Given the description of an element on the screen output the (x, y) to click on. 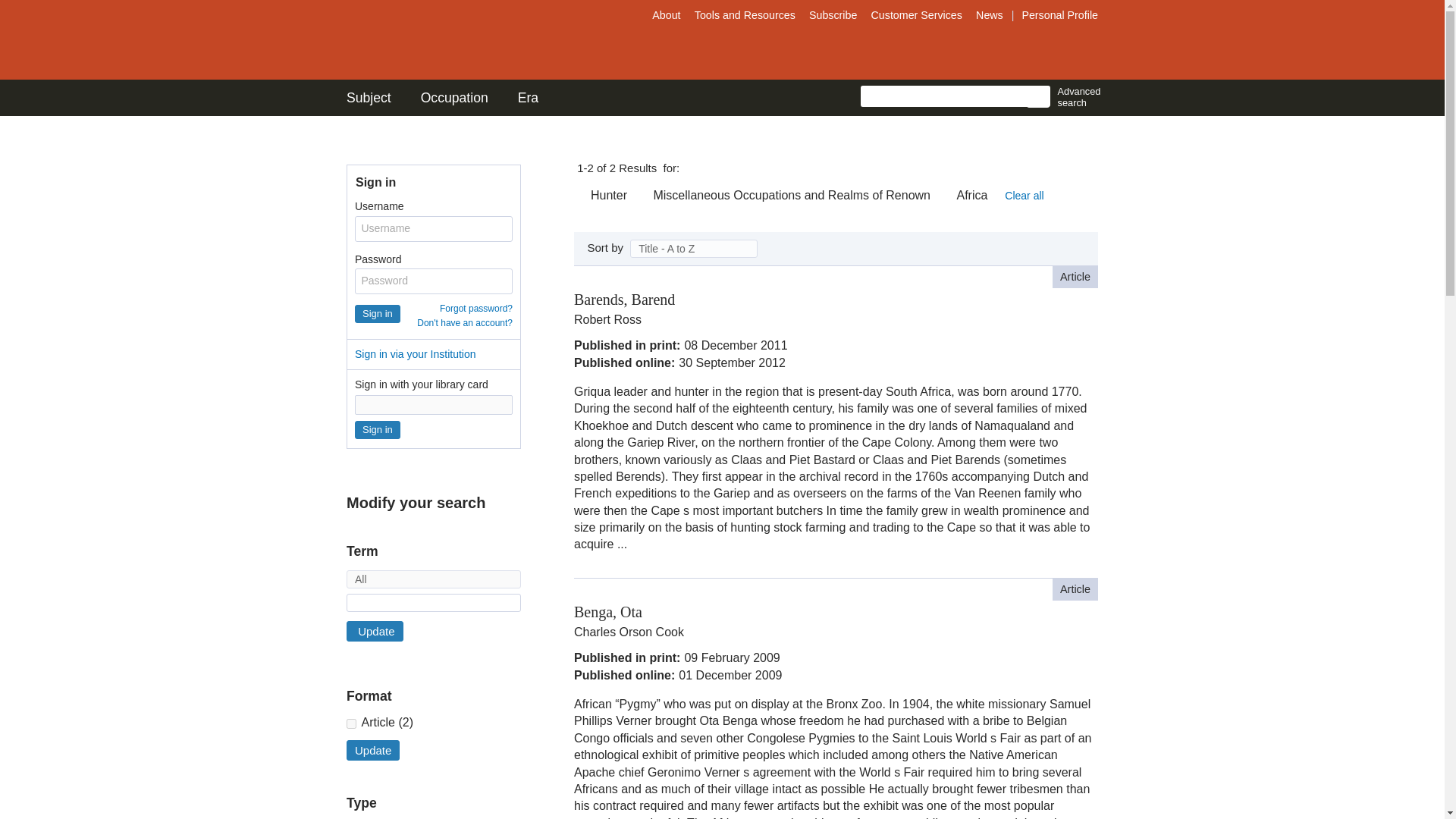
News (991, 15)
 Update (374, 630)
Advanced search (1075, 96)
Save (1090, 162)
Sign in (377, 429)
Search (1037, 96)
Occupation (453, 97)
subjectreference (351, 723)
Jump to Content (55, 11)
Customer Services (917, 15)
